Given the description of an element on the screen output the (x, y) to click on. 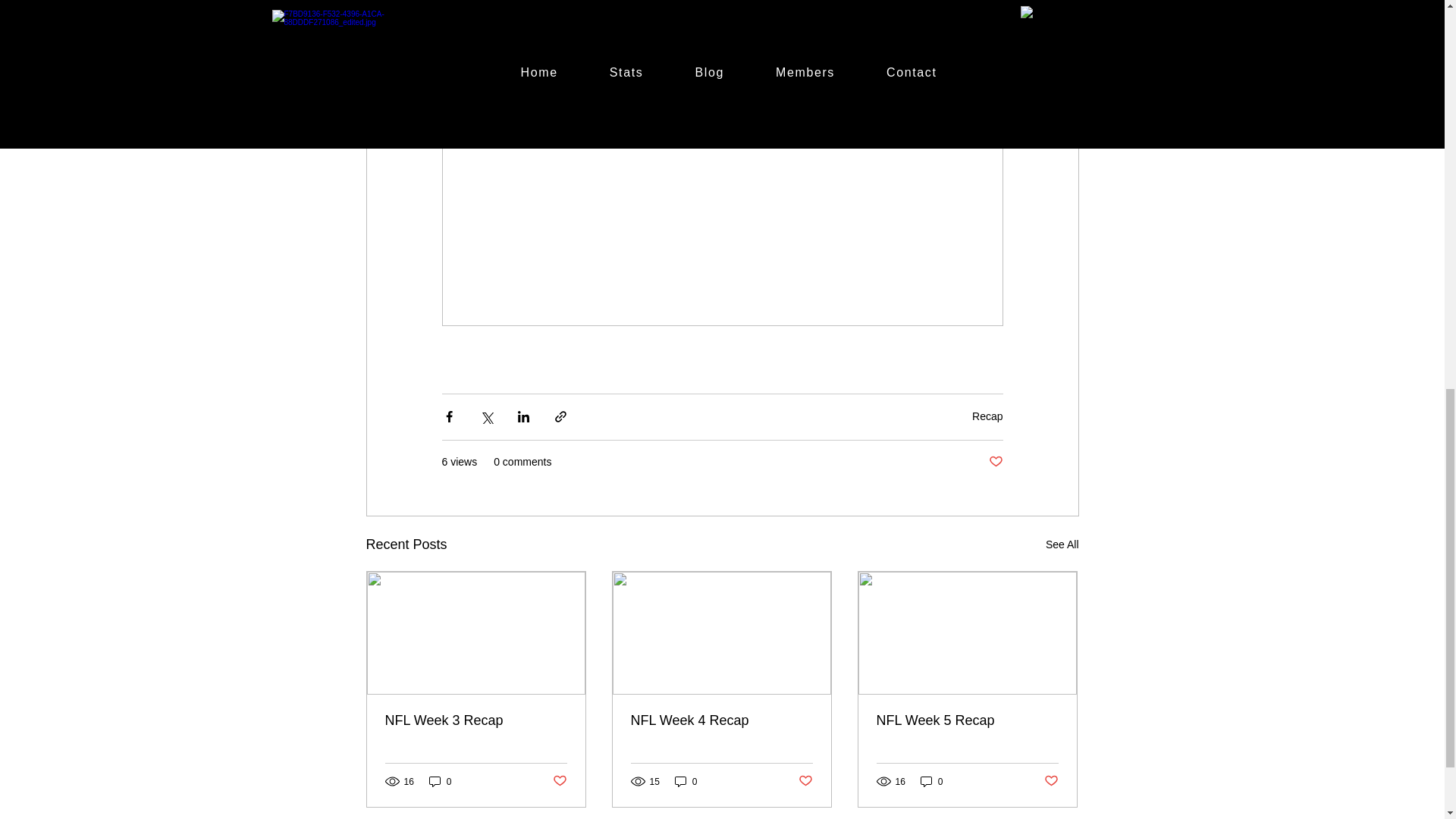
0 (440, 780)
Recap (987, 416)
NFL Week 3 Recap (476, 720)
See All (1061, 544)
NFL Week 4 Recap (721, 720)
0 (931, 780)
Post not marked as liked (558, 781)
Post not marked as liked (1050, 781)
0 (685, 780)
Post not marked as liked (804, 781)
